Given the description of an element on the screen output the (x, y) to click on. 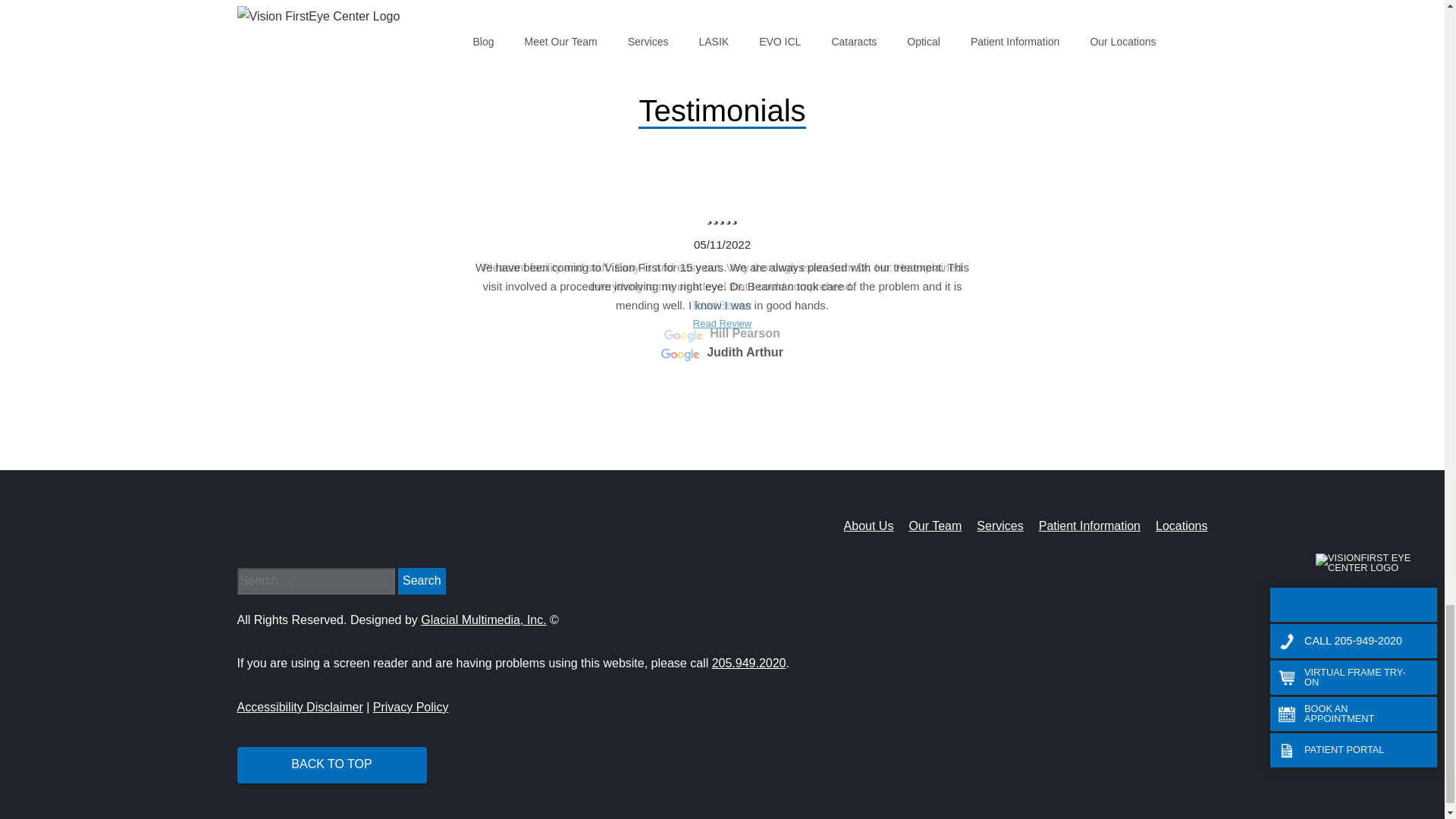
Search (421, 581)
Search (421, 581)
